Given the description of an element on the screen output the (x, y) to click on. 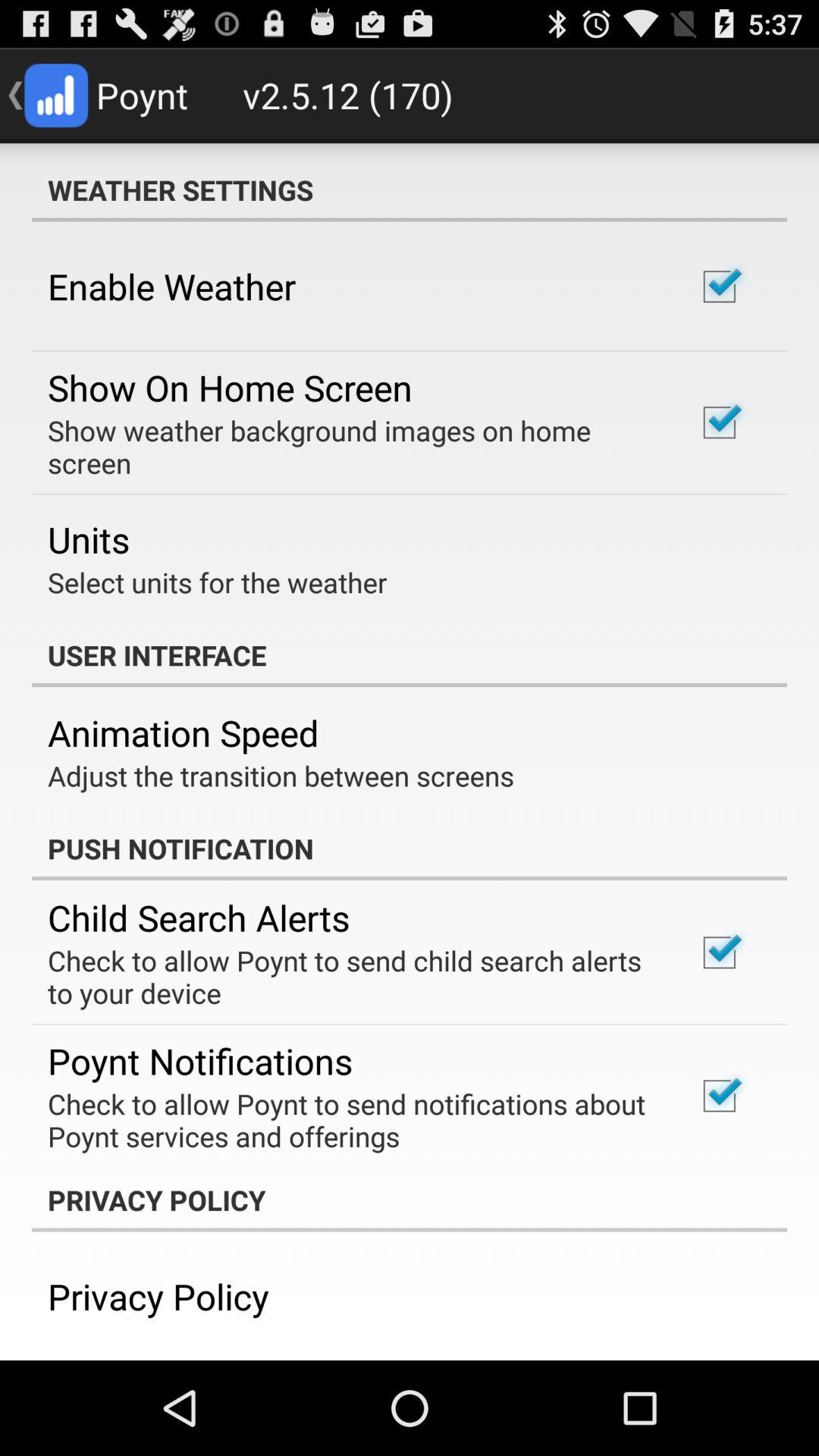
launch icon above the adjust the transition app (183, 732)
